Given the description of an element on the screen output the (x, y) to click on. 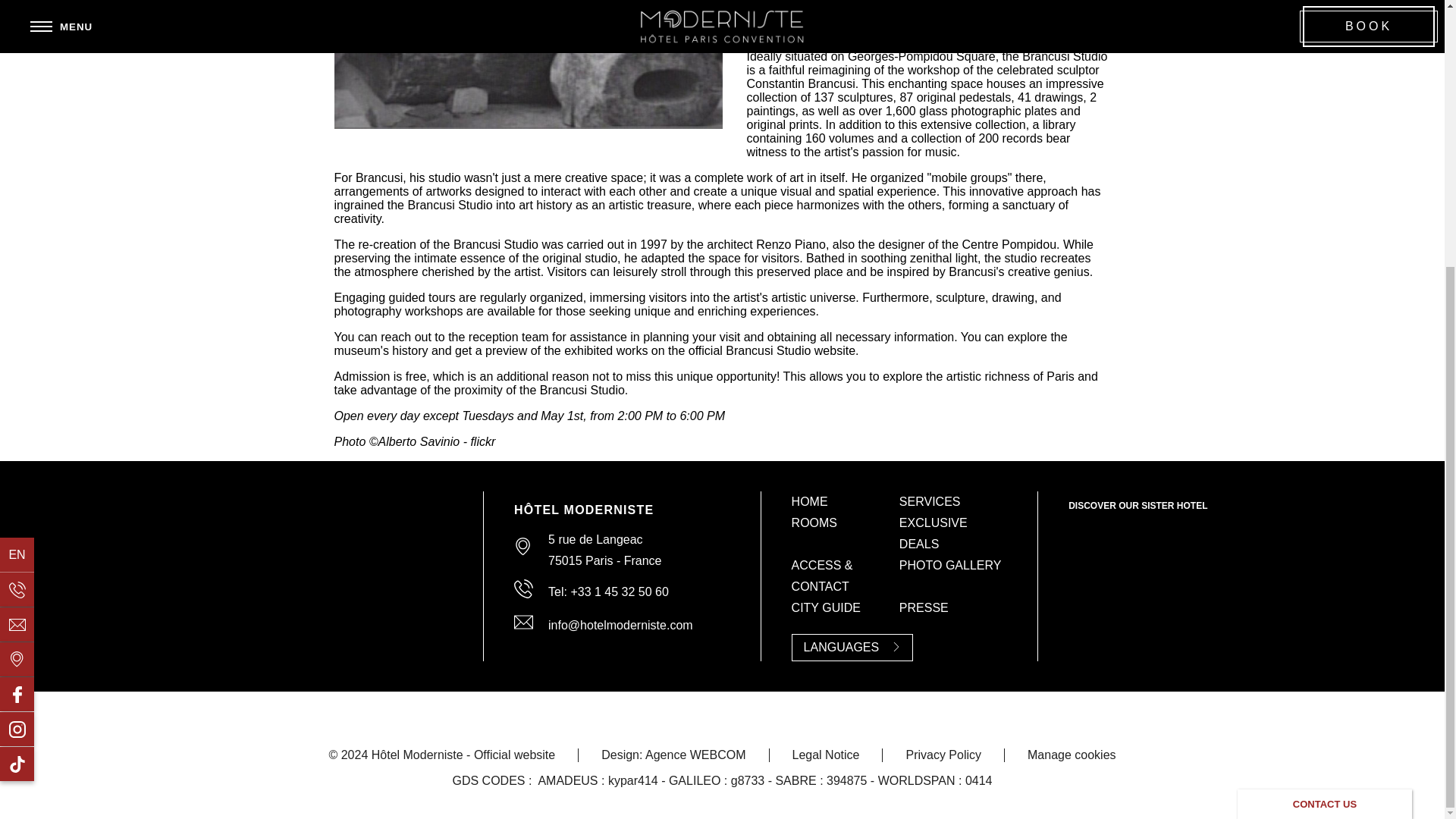
HOME (810, 501)
PRESSE (924, 607)
EXCLUSIVE DEALS (933, 533)
CITY GUIDE (826, 607)
EN (16, 167)
SERVICES (929, 501)
ROOMS (814, 522)
PHOTO GALLERY (950, 564)
LANGUAGES (852, 646)
